Given the description of an element on the screen output the (x, y) to click on. 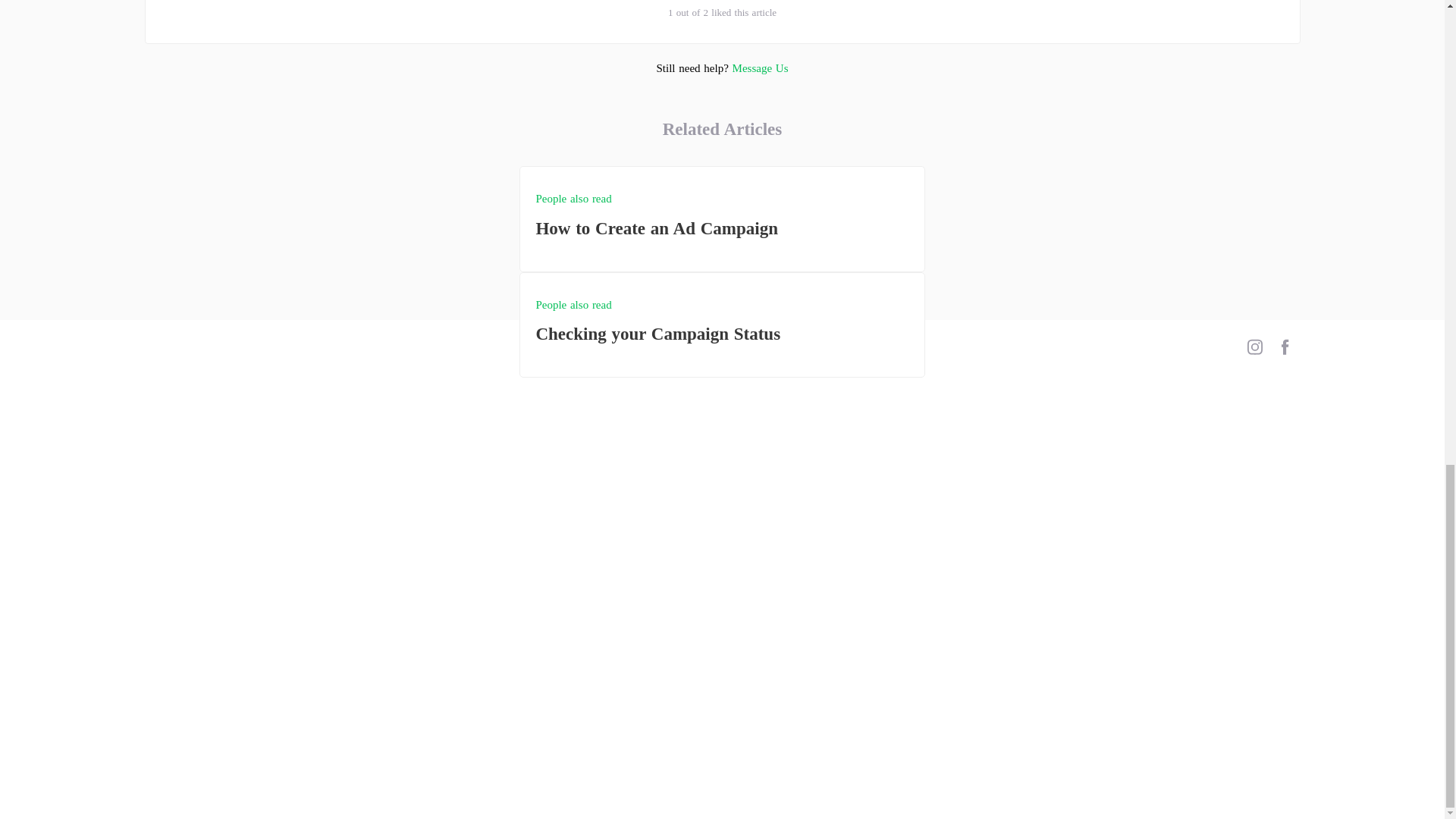
Message Us (721, 218)
